Given the description of an element on the screen output the (x, y) to click on. 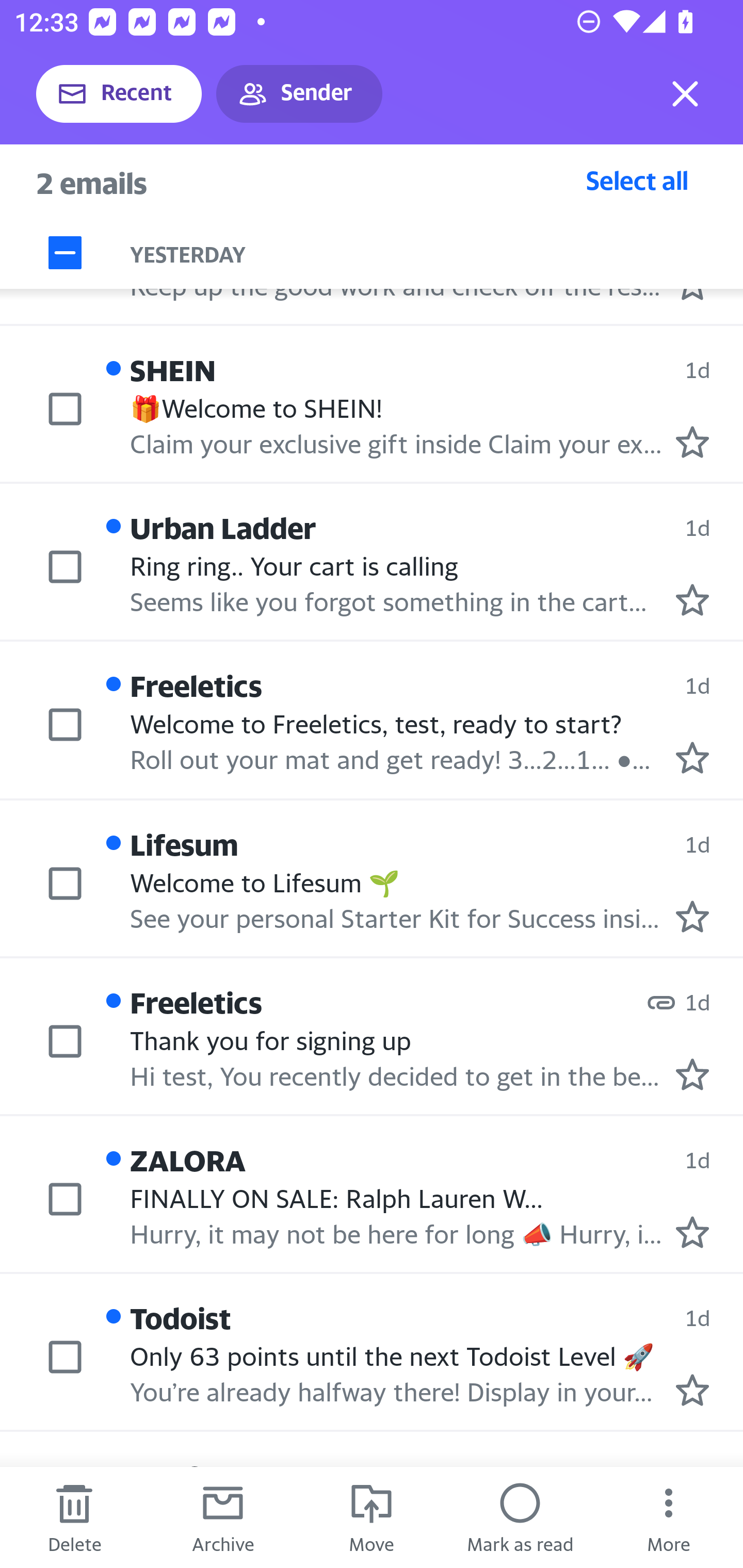
Sender (299, 93)
Exit selection mode (684, 93)
Select all (637, 180)
Mark as starred. (692, 441)
Mark as starred. (692, 599)
Mark as starred. (692, 758)
Mark as starred. (692, 916)
Mark as starred. (692, 1074)
Mark as starred. (692, 1231)
Mark as starred. (692, 1390)
Delete (74, 1517)
Archive (222, 1517)
Move (371, 1517)
Mark as read (519, 1517)
More (668, 1517)
